Given the description of an element on the screen output the (x, y) to click on. 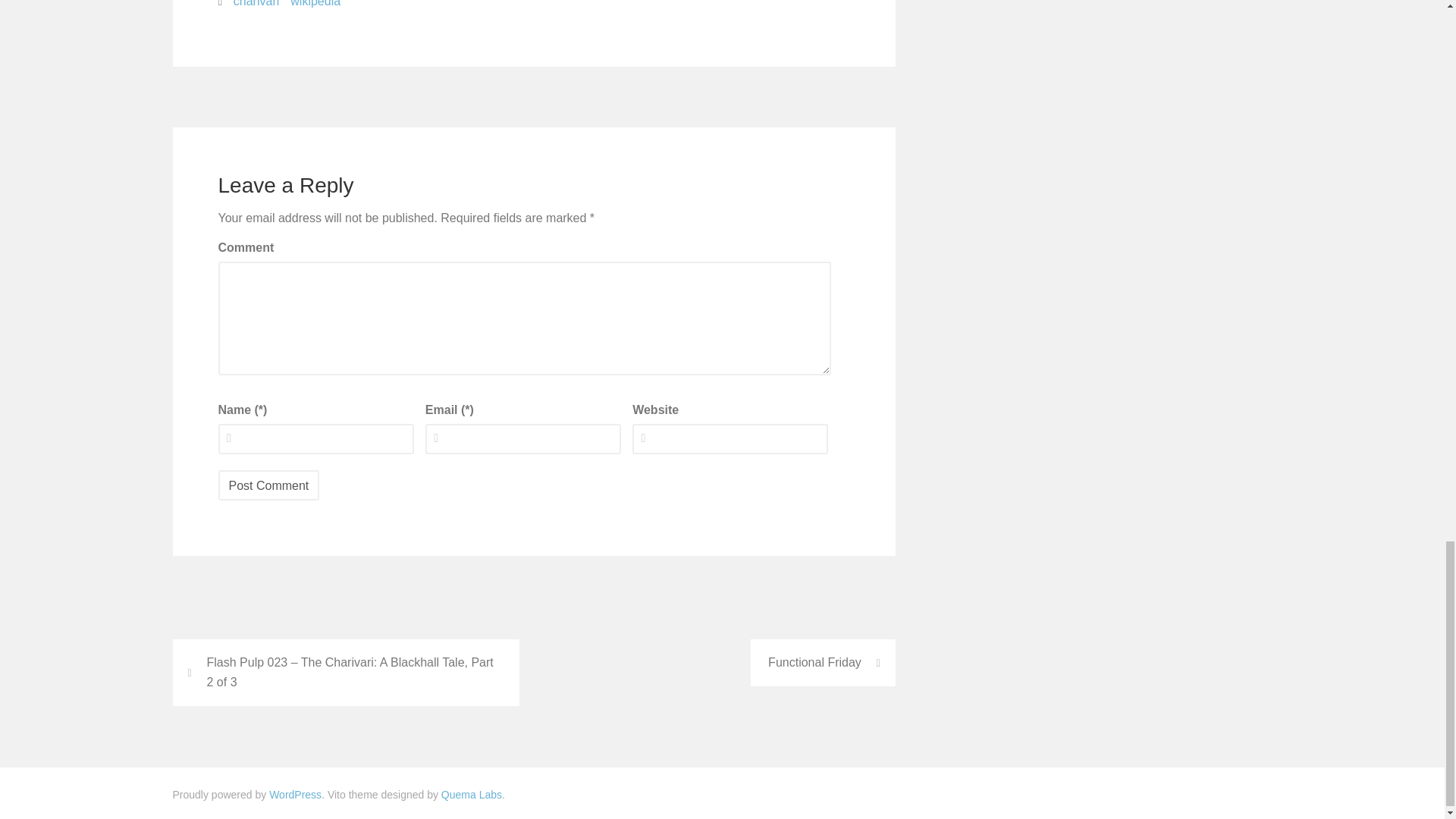
Post Comment (269, 485)
charivari (255, 5)
wikipedia (314, 5)
WordPress (295, 794)
Functional Friday (823, 662)
Quema Labs (471, 794)
Post Comment (269, 485)
